Given the description of an element on the screen output the (x, y) to click on. 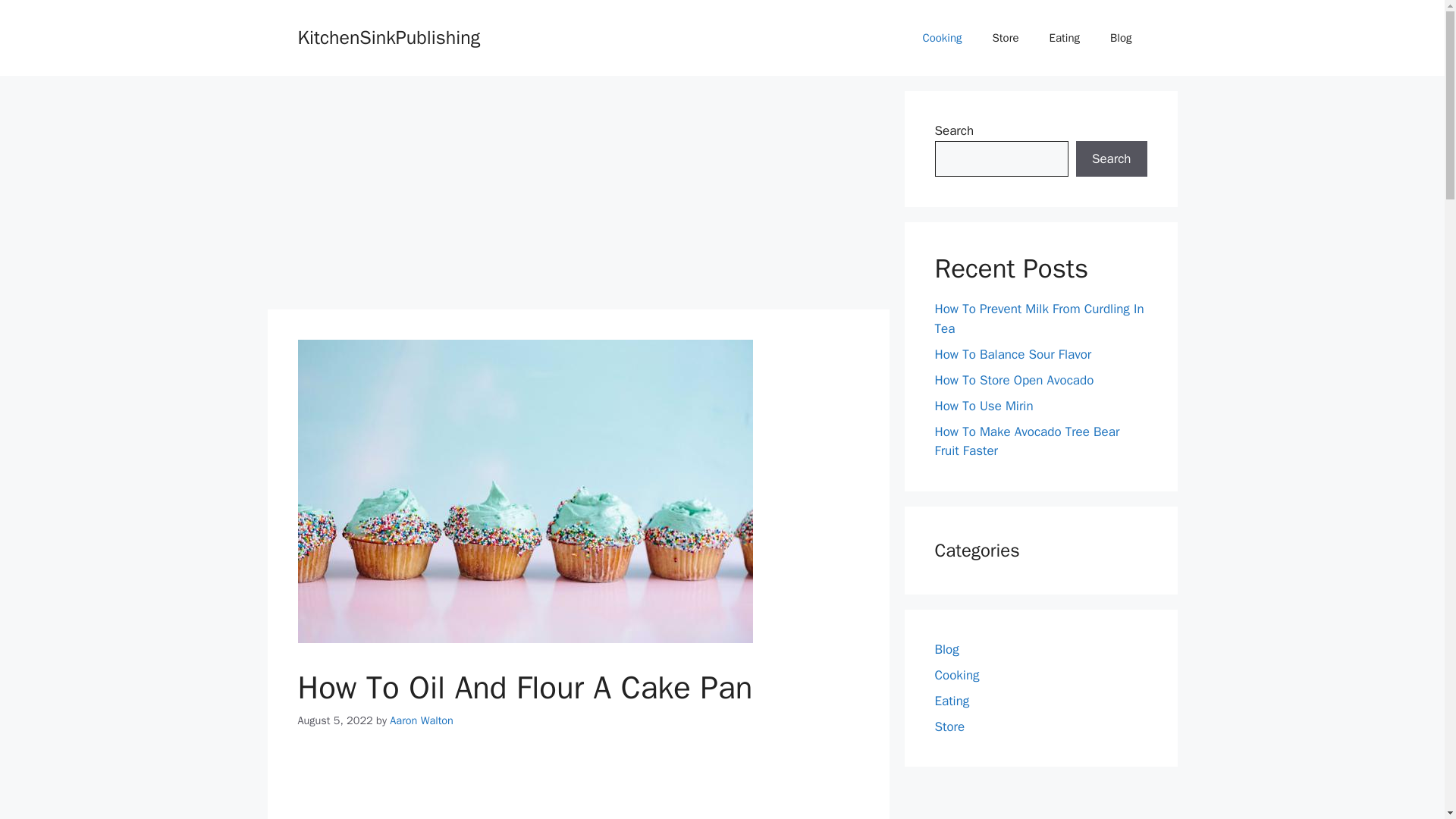
View all posts by Aaron Walton (421, 720)
Eating (951, 700)
Cooking (941, 37)
Store (1004, 37)
Advertisement (577, 196)
Aaron Walton (421, 720)
How To Use Mirin (983, 405)
How To Store Open Avocado (1013, 379)
Search (1111, 158)
Cooking (956, 675)
Eating (1063, 37)
Advertisement (578, 786)
Blog (1120, 37)
Blog (946, 649)
How To Balance Sour Flavor (1012, 353)
